Given the description of an element on the screen output the (x, y) to click on. 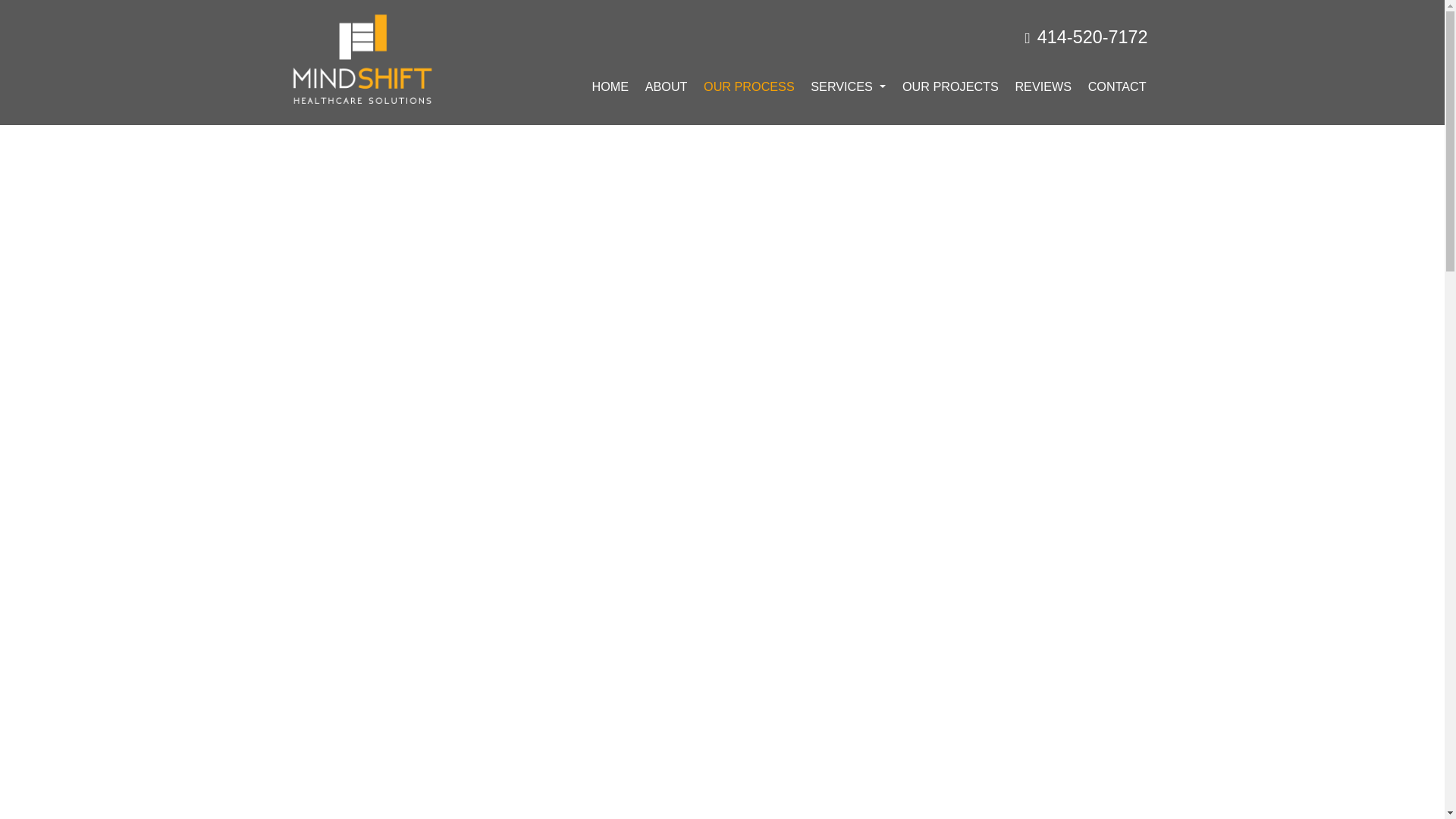
Services (849, 86)
CONTACT (1117, 86)
REVIEWS (1043, 86)
Our Projects (949, 86)
Home (610, 86)
414-520-7172 (1086, 36)
About (666, 86)
Contact (1117, 86)
Our Process (748, 86)
ABOUT (666, 86)
